Given the description of an element on the screen output the (x, y) to click on. 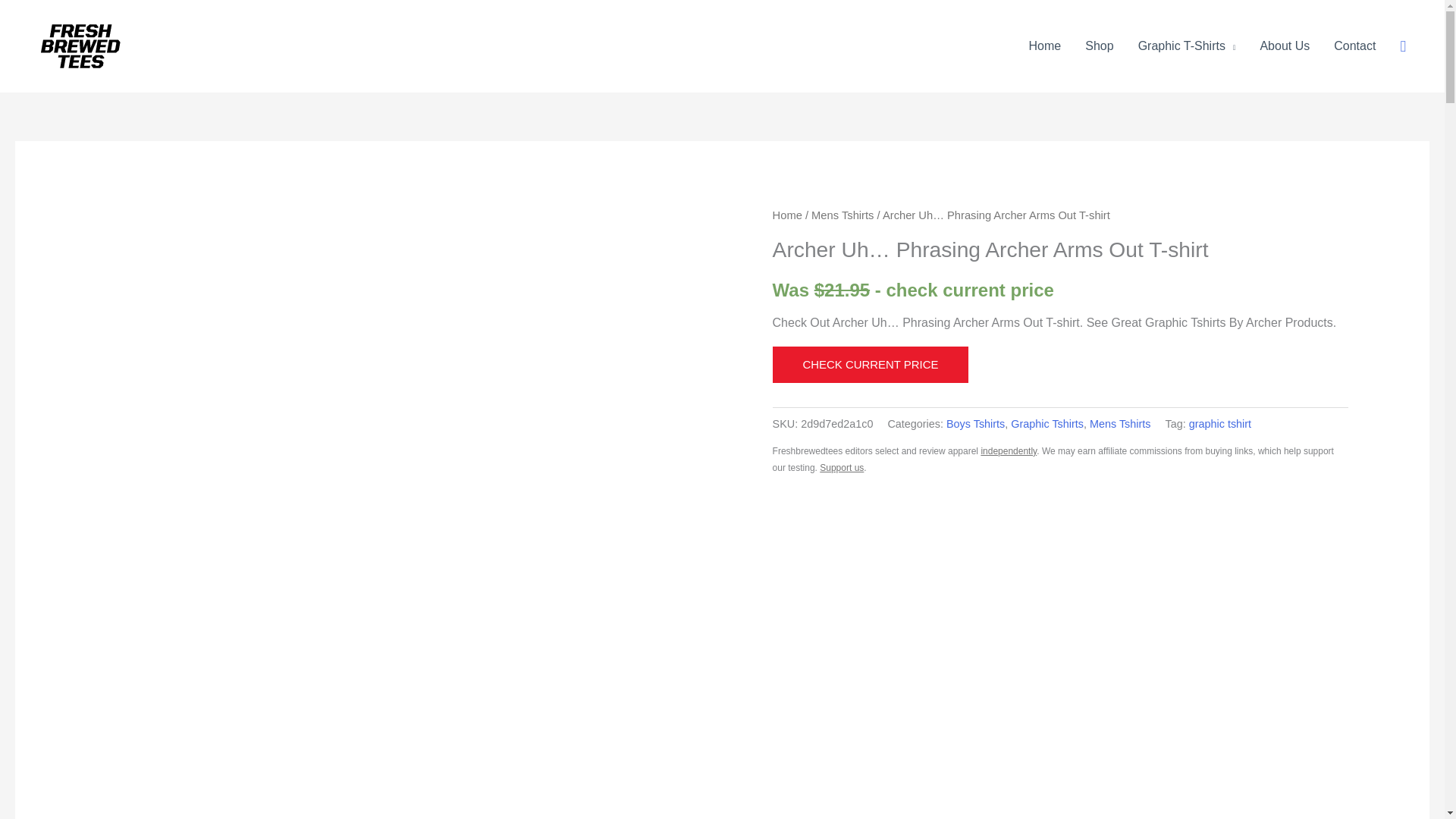
graphic tshirt (1219, 423)
Mens Tshirts (1120, 423)
independently (1007, 450)
Boys Tshirts (975, 423)
About Us (1284, 46)
Shop (1099, 46)
